Given the description of an element on the screen output the (x, y) to click on. 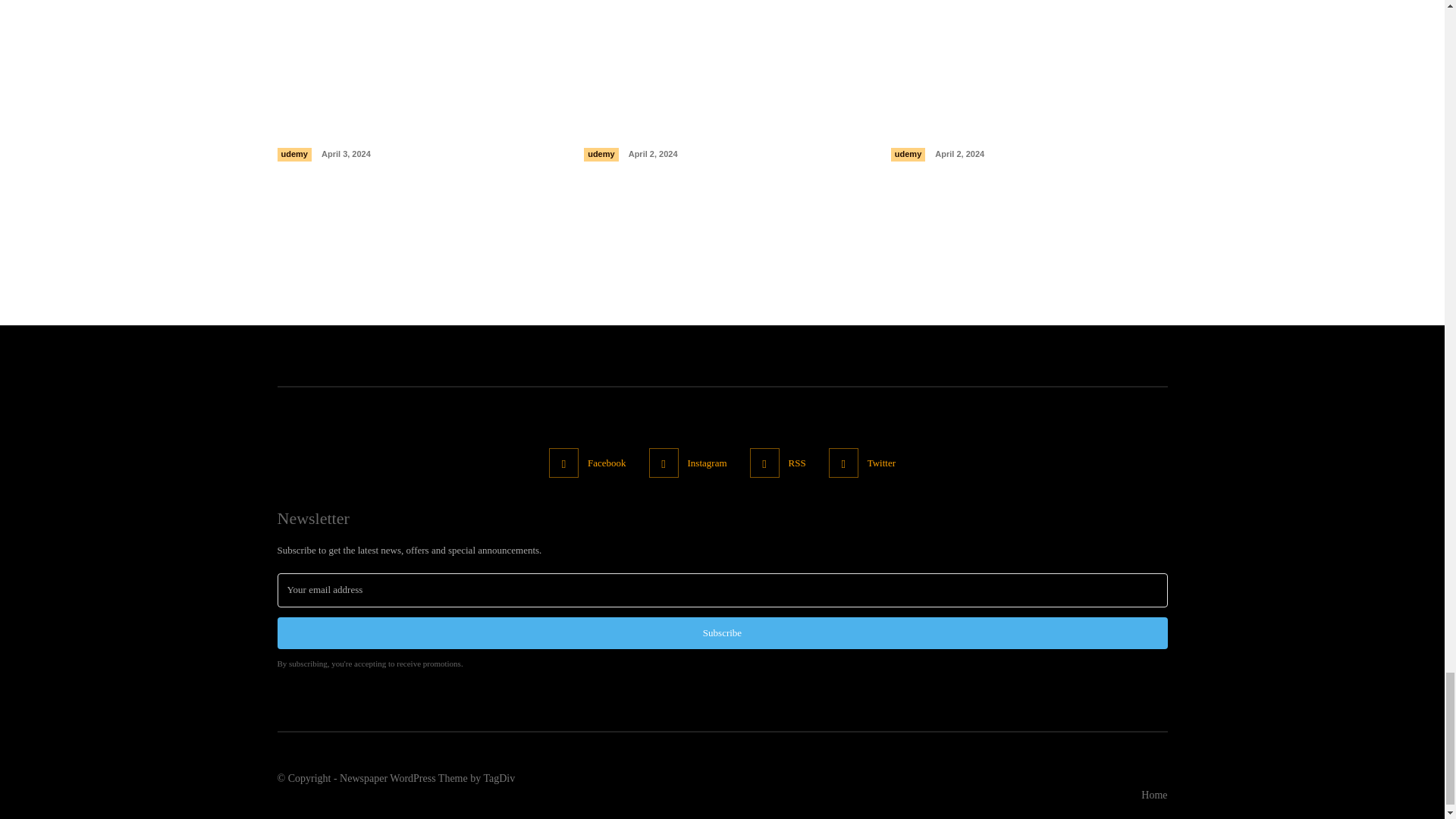
udemy (294, 154)
udemy (600, 154)
udemy (907, 154)
